Given the description of an element on the screen output the (x, y) to click on. 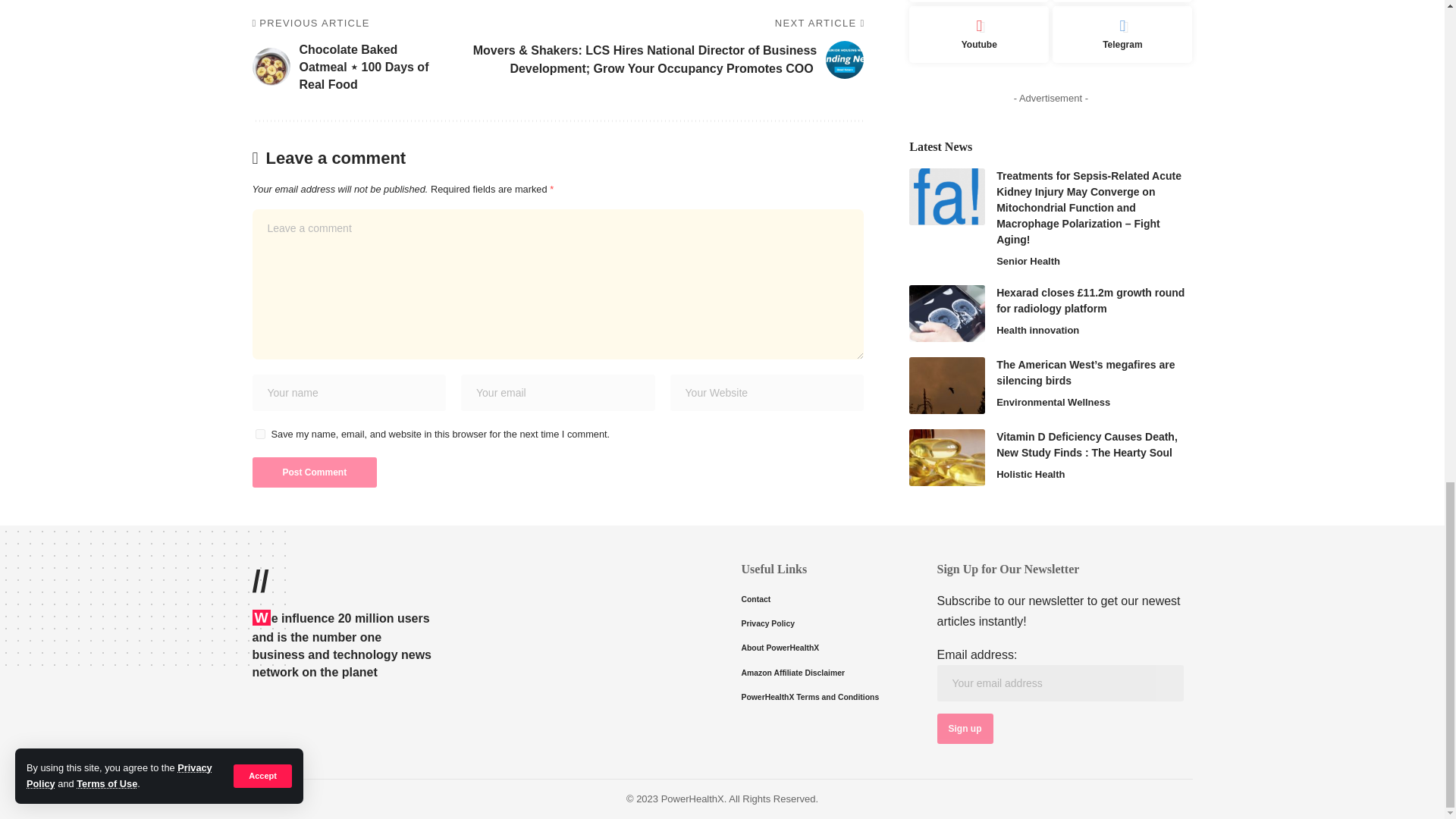
yes (259, 433)
Post Comment (314, 472)
Sign up (964, 728)
